Given the description of an element on the screen output the (x, y) to click on. 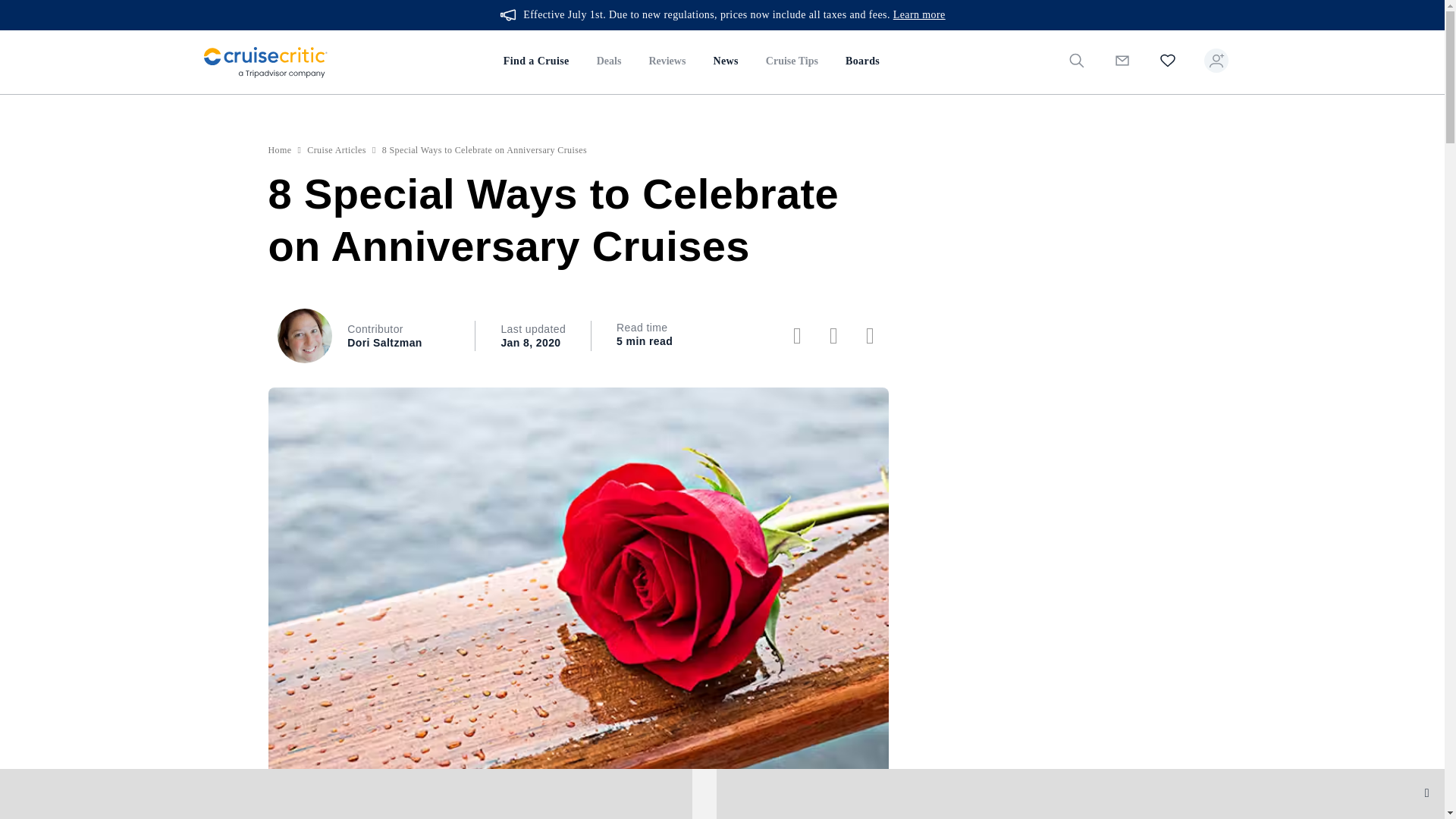
Cruise Tips (791, 62)
Boards (861, 62)
Learn more (918, 15)
Find a Cruise (536, 62)
Home (279, 150)
Reviews (666, 62)
Cruise Articles (336, 150)
